Given the description of an element on the screen output the (x, y) to click on. 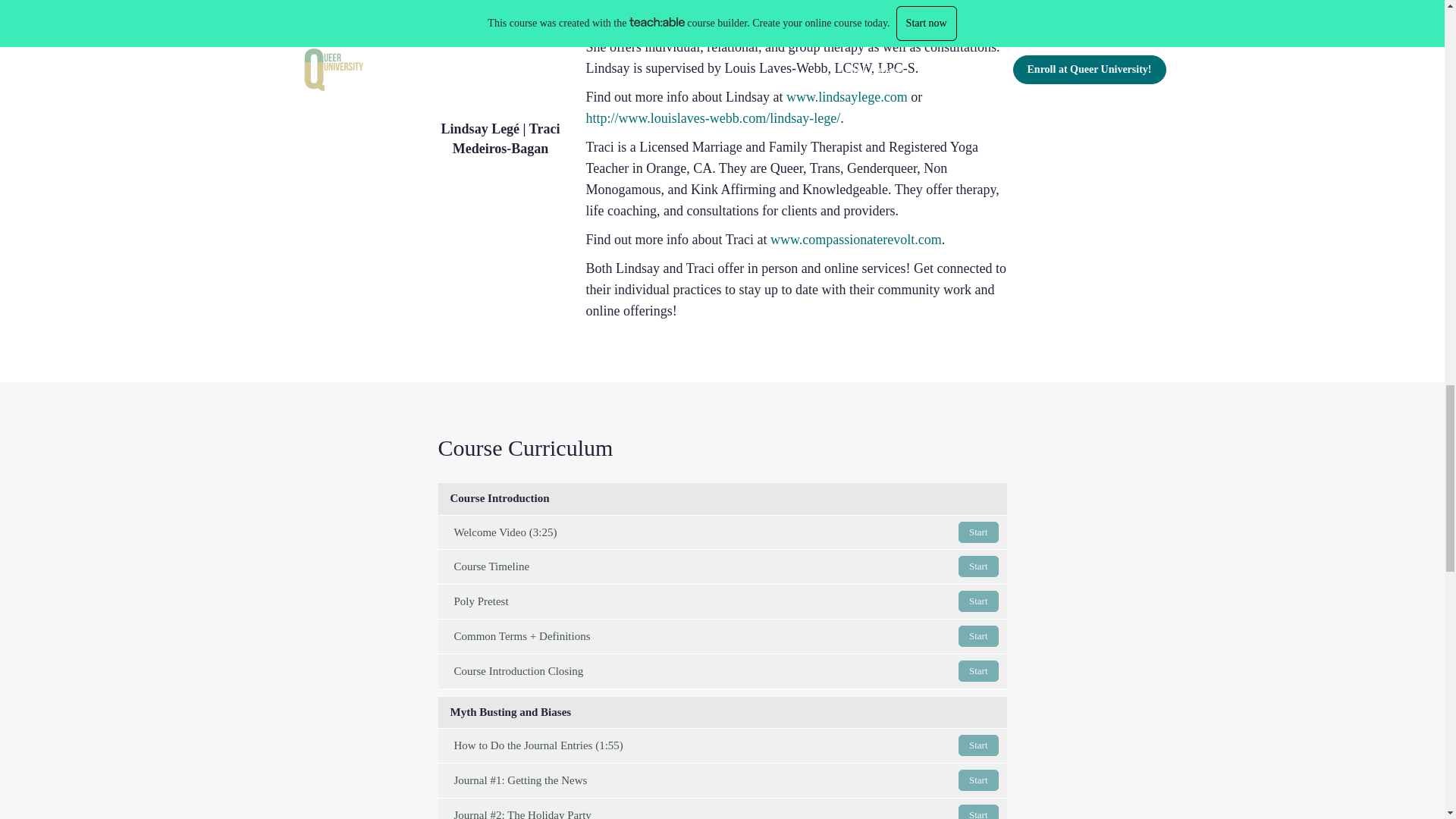
www.compassionaterevolt.com (722, 566)
www.lindsaylege.com (856, 239)
